Given the description of an element on the screen output the (x, y) to click on. 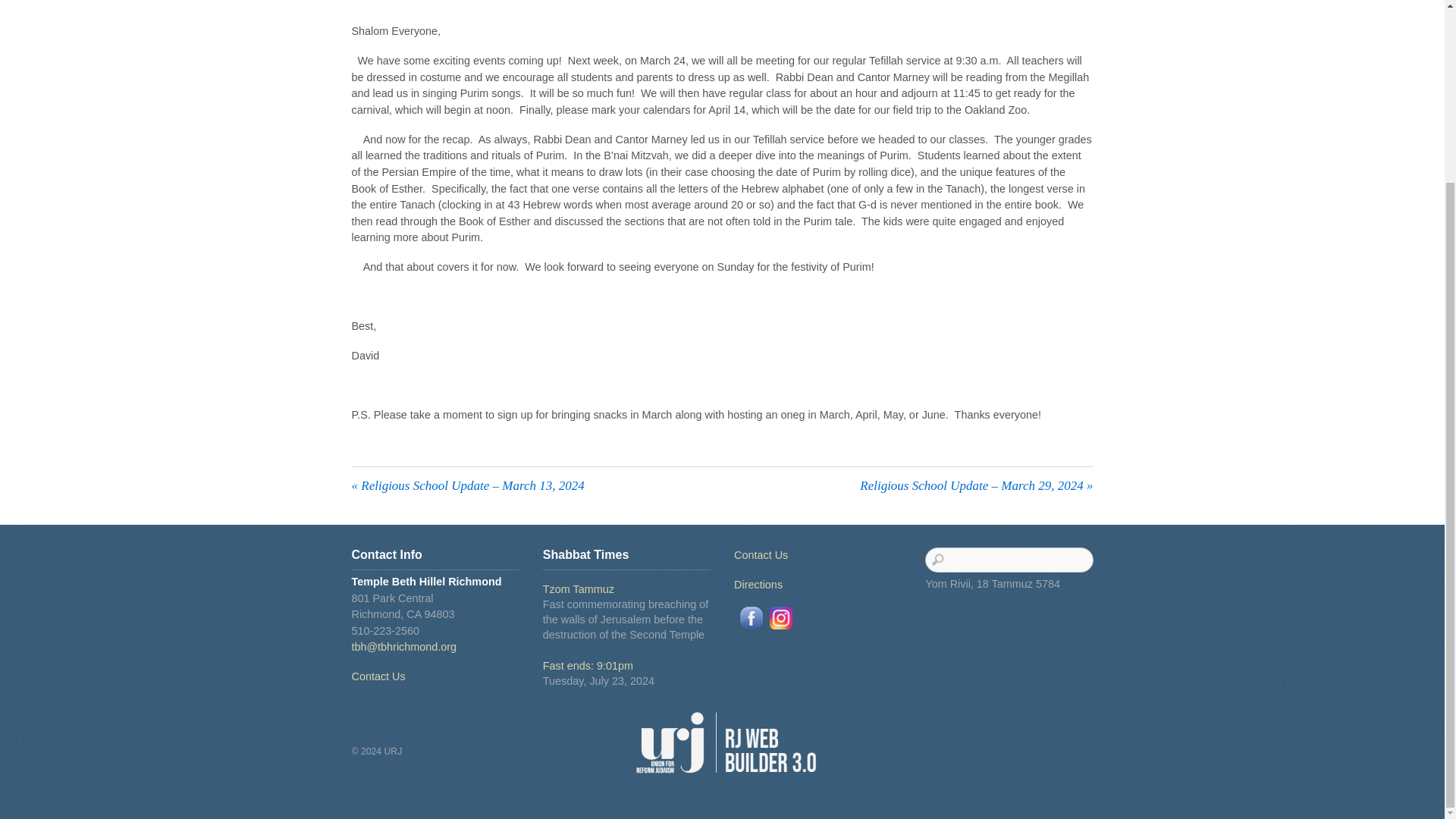
Search (1008, 559)
